Given the description of an element on the screen output the (x, y) to click on. 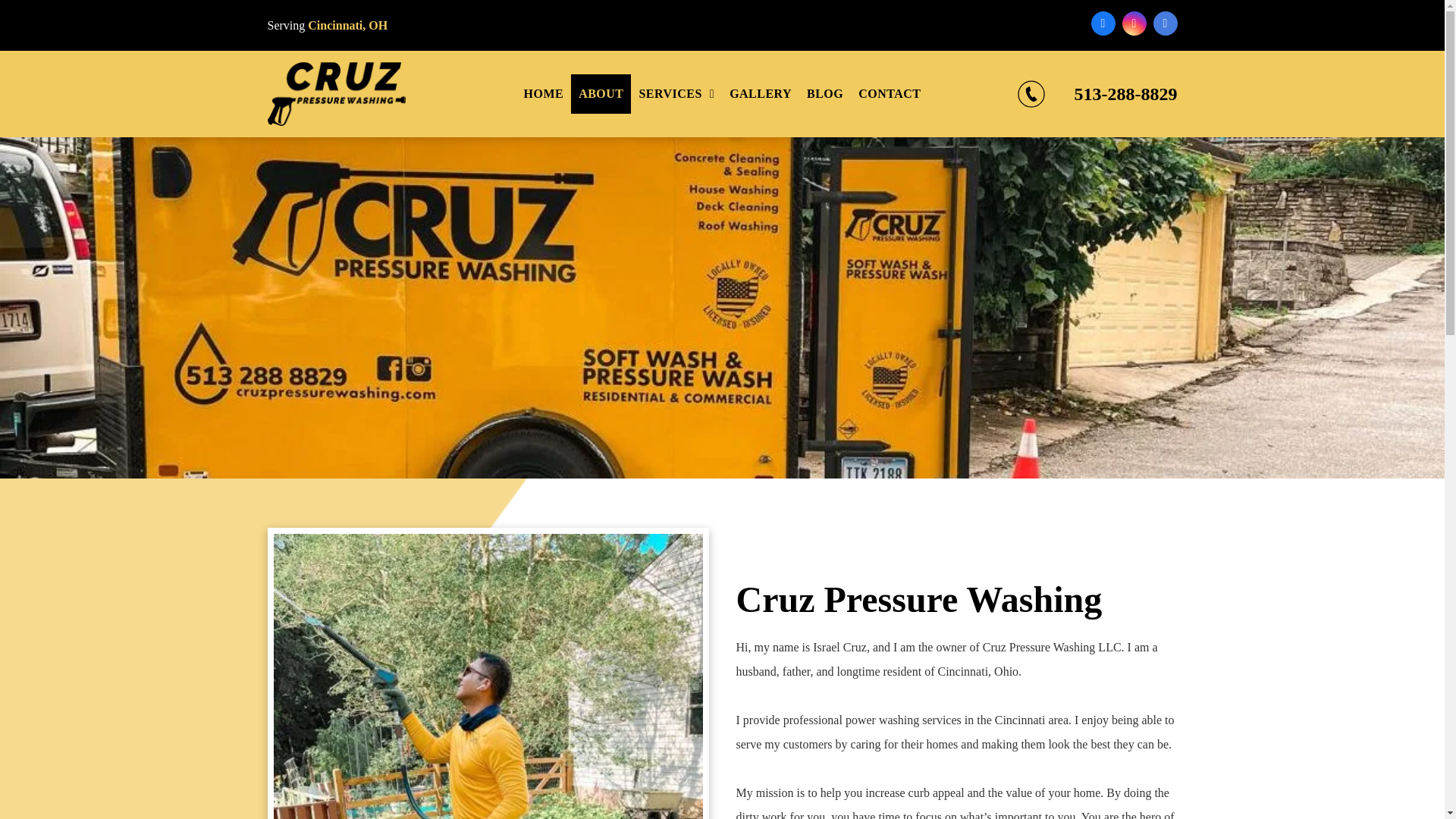
Cincinnati, OH (347, 24)
CONTACT (889, 93)
HOME (544, 93)
BLOG (824, 93)
GALLERY (760, 93)
Cruz Pressure Washing (335, 94)
SERVICES (676, 93)
ABOUT (600, 93)
513-288-8829 (1125, 94)
